Given the description of an element on the screen output the (x, y) to click on. 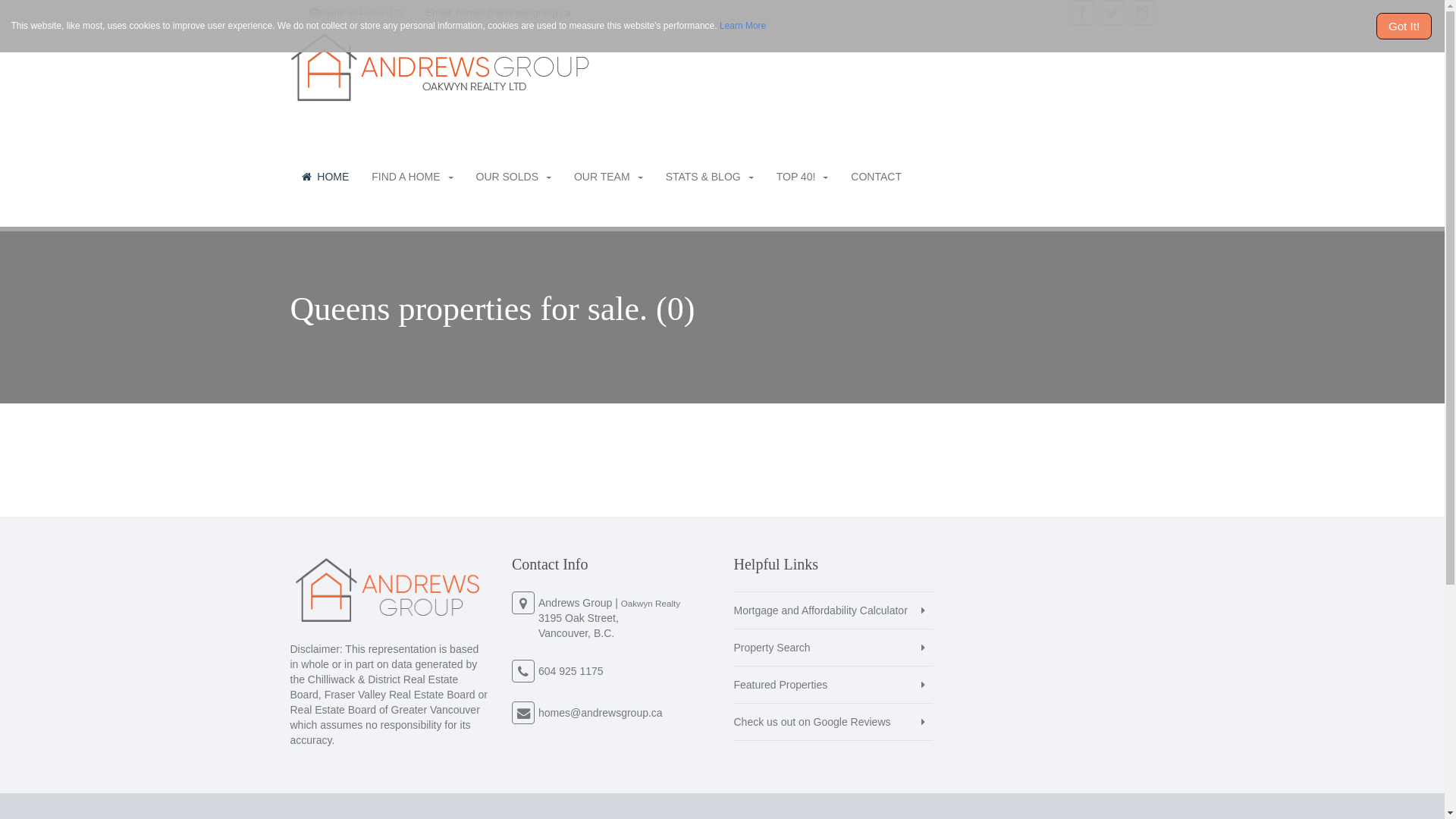
 HOME Element type: text (324, 176)
STATS & BLOG Element type: text (709, 176)
Got It! Element type: text (1403, 26)
TOP 40! Element type: text (802, 176)
Featured Properties Element type: text (833, 684)
homes@andrewsgroup.ca Element type: text (600, 712)
FIND A HOME Element type: text (412, 176)
Mortgage and Affordability Calculator Element type: text (833, 610)
OUR TEAM Element type: text (608, 176)
Property Search Element type: text (833, 647)
Check us out on Google Reviews Element type: text (833, 721)
homes@andrewsgroup.ca Element type: text (513, 12)
CONTACT Element type: text (876, 176)
OUR SOLDS Element type: text (513, 176)
Learn More Element type: text (742, 25)
